Given the description of an element on the screen output the (x, y) to click on. 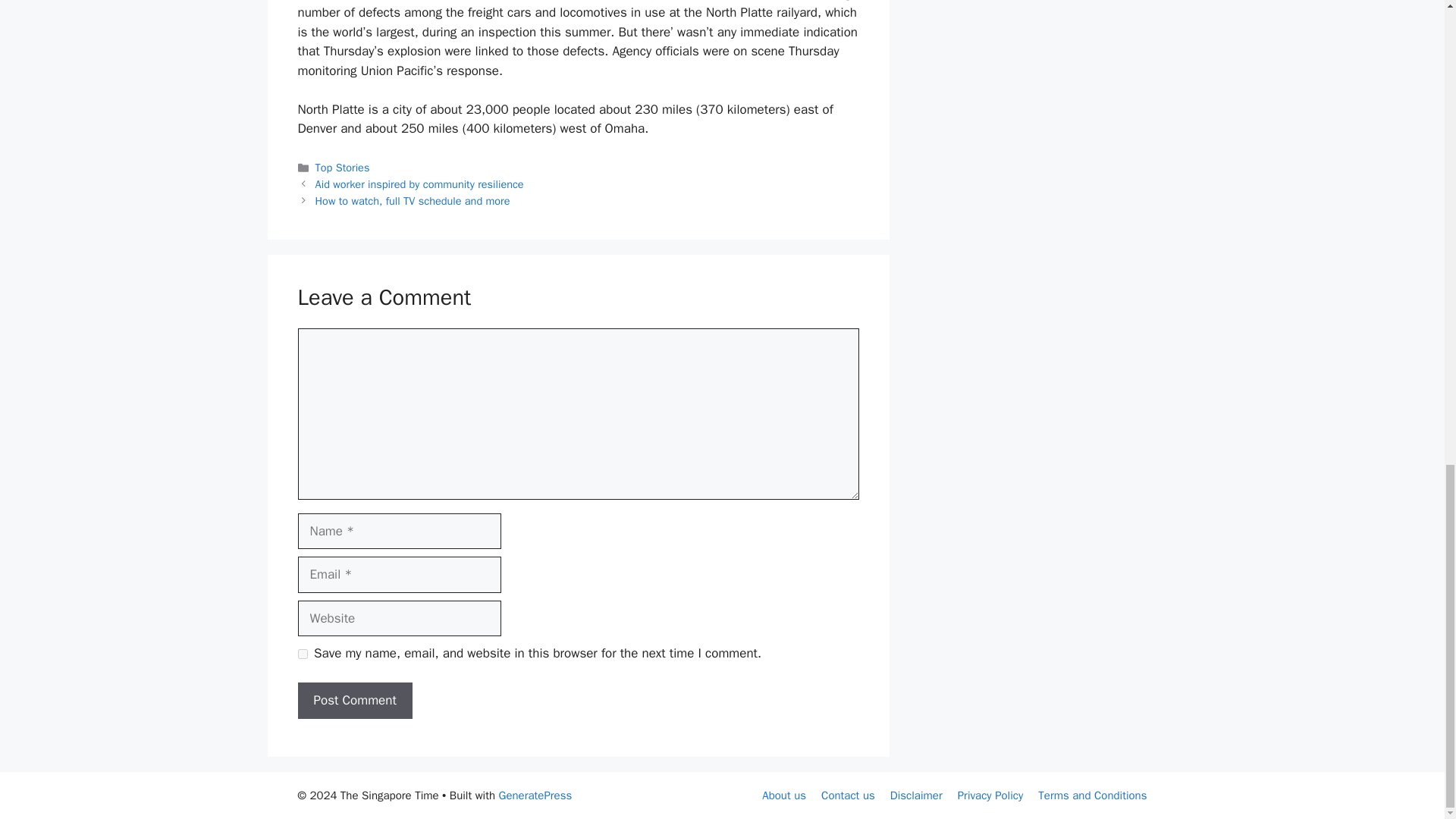
About us (783, 795)
How to watch, full TV schedule and more (413, 201)
yes (302, 654)
Disclaimer (915, 795)
GeneratePress (535, 795)
Terms and Conditions (1092, 795)
Contact us (848, 795)
Privacy Policy (990, 795)
Top Stories (342, 167)
Post Comment (354, 700)
